Given the description of an element on the screen output the (x, y) to click on. 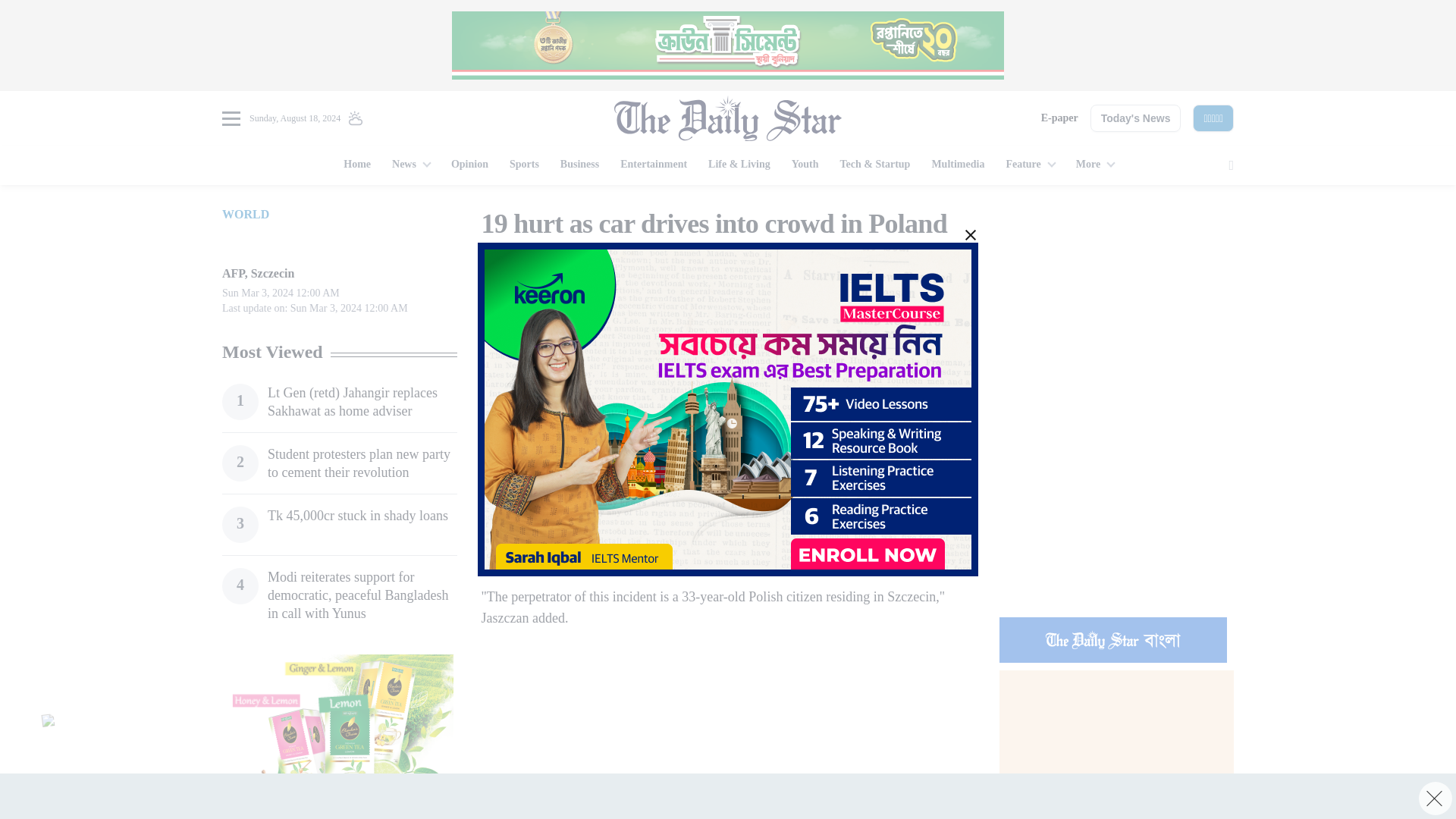
Entertainment (653, 165)
Home (357, 165)
3rd party ad content (338, 736)
Sports (524, 165)
Today's News (1135, 117)
Youth (805, 165)
3rd party ad content (727, 45)
Opinion (469, 165)
3rd party ad content (1116, 302)
E-paper (1059, 117)
